Given the description of an element on the screen output the (x, y) to click on. 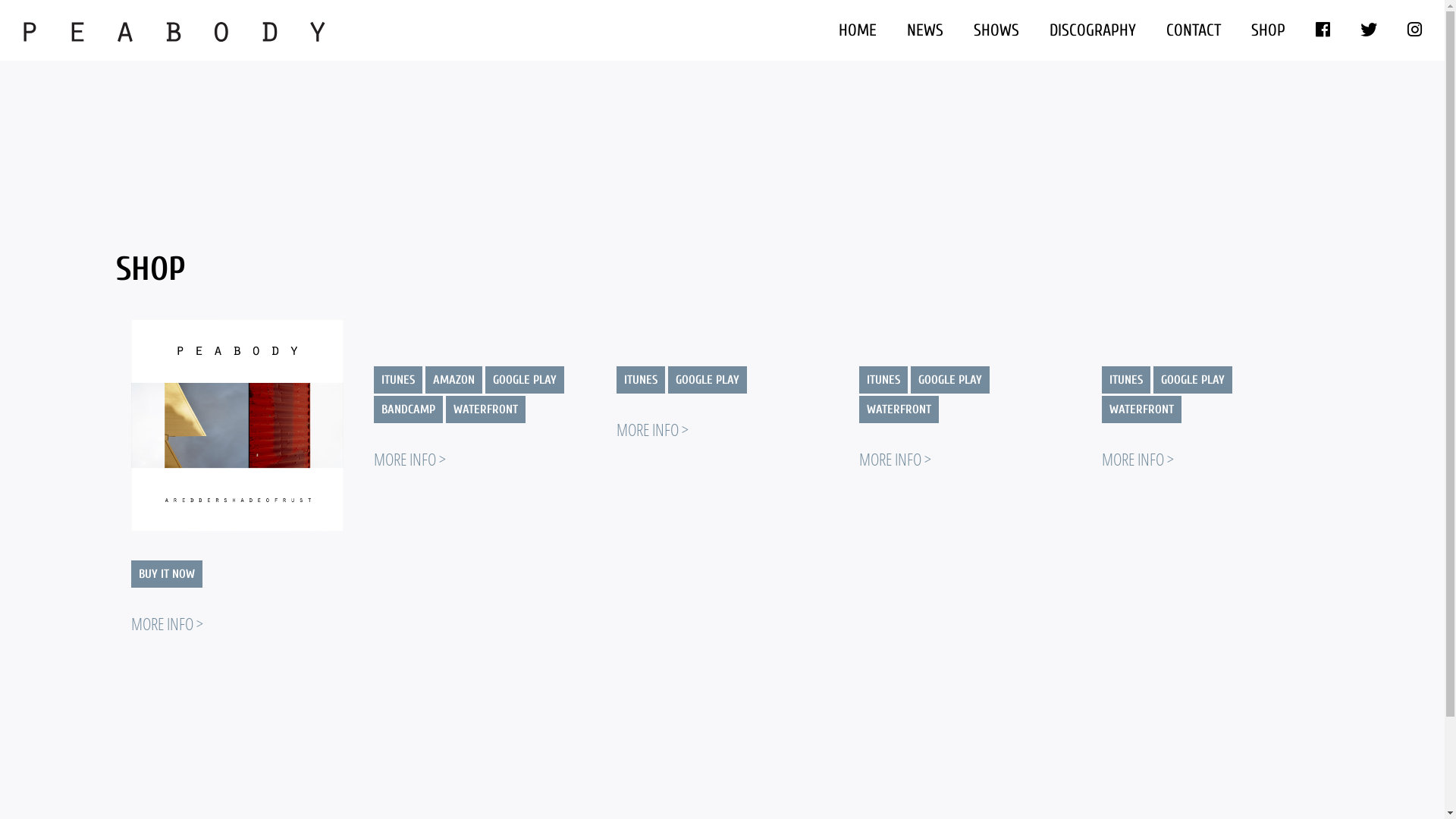
WATERFRONT Element type: text (485, 409)
MORE INFO > Element type: text (166, 622)
SHOP Element type: text (1268, 30)
MORE INFO > Element type: text (894, 458)
MORE INFO > Element type: text (1137, 458)
MORE INFO > Element type: text (651, 428)
HOME Element type: text (857, 30)
GOOGLE PLAY Element type: text (949, 379)
DISCOGRAPHY Element type: text (1092, 30)
WATERFRONT Element type: text (898, 409)
BUY IT NOW Element type: text (165, 573)
GOOGLE PLAY Element type: text (706, 379)
MORE INFO > Element type: text (409, 458)
GOOGLE PLAY Element type: text (524, 379)
NEWS Element type: text (924, 30)
ITUNES Element type: text (882, 379)
SHOWS Element type: text (996, 30)
AMAZON Element type: text (452, 379)
CONTACT Element type: text (1193, 30)
GOOGLE PLAY Element type: text (1191, 379)
ITUNES Element type: text (639, 379)
ITUNES Element type: text (397, 379)
WATERFRONT Element type: text (1140, 409)
ITUNES Element type: text (1125, 379)
BANDCAMP Element type: text (407, 409)
